Given the description of an element on the screen output the (x, y) to click on. 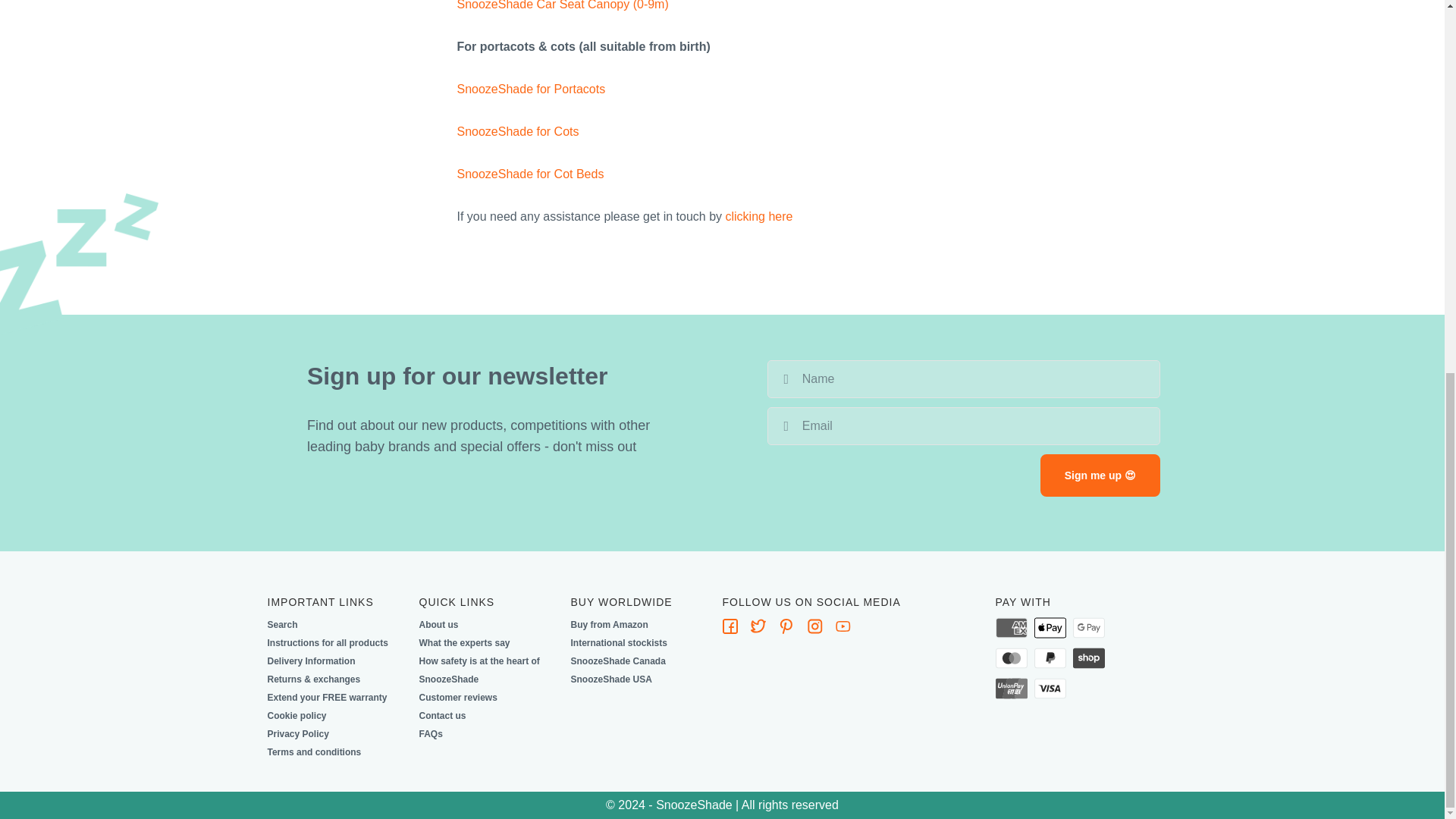
Instructions for all products (326, 642)
Visa (1049, 688)
SnoozeShade for Cot Beds (530, 173)
Union Pay (1010, 688)
Extend your FREE warranty (326, 697)
American Express (1010, 627)
 clicking here  (759, 215)
PayPal (1049, 658)
Search (281, 624)
How to fit SnoozeShade for Portacots (531, 88)
Shop Pay (1089, 658)
SnoozeShade for Cot Beds (530, 173)
SnoozeShade for Cots (517, 131)
Google Pay (1089, 627)
SnoozeShade for Cots (517, 131)
